Given the description of an element on the screen output the (x, y) to click on. 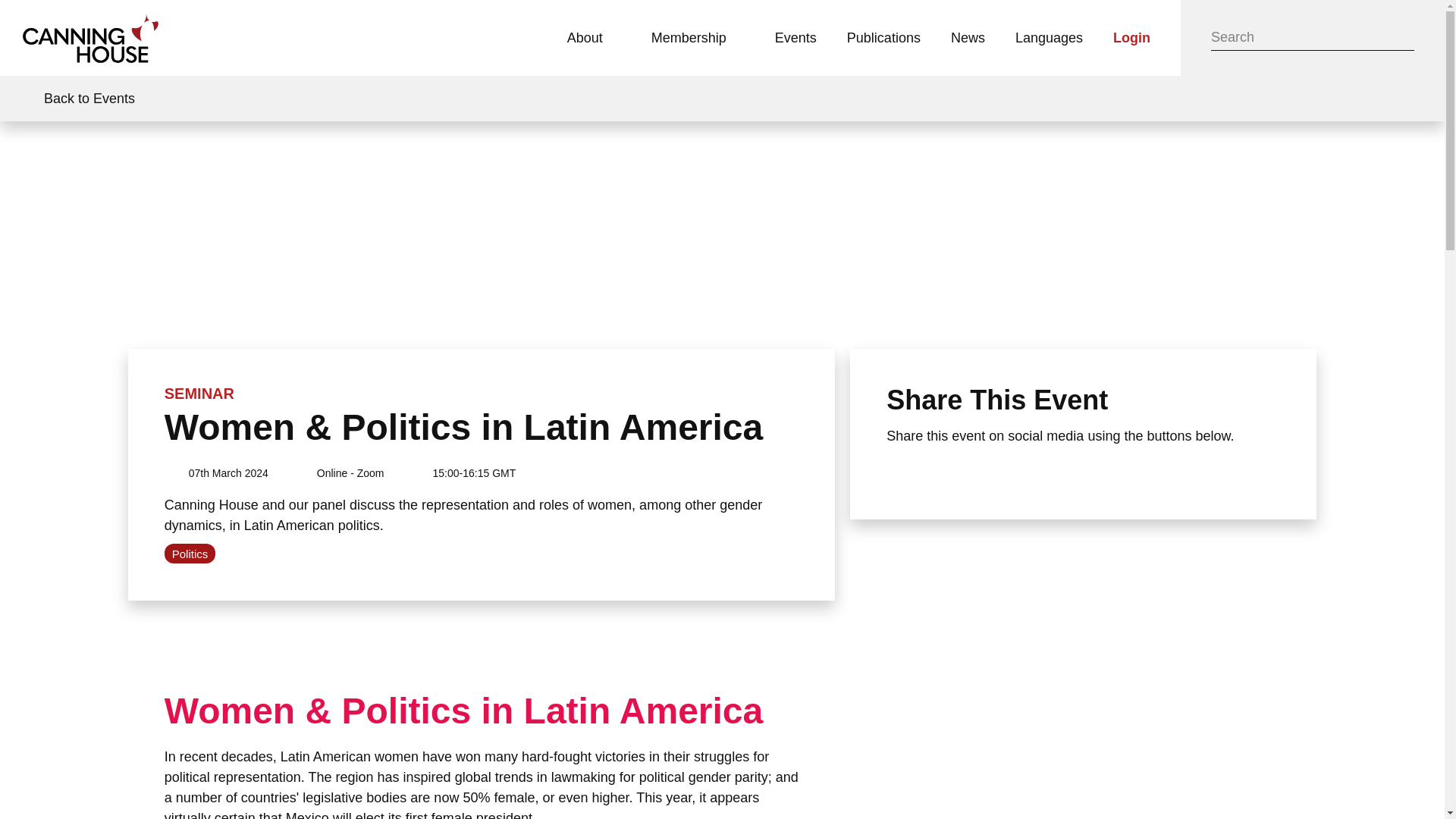
Back to Events (75, 98)
Languages (1048, 38)
Canning House (90, 38)
Login (1131, 38)
Log in (1131, 38)
Events (795, 38)
Events (795, 38)
Publications (883, 38)
Politics (189, 553)
Publications (883, 38)
Back to Events (75, 98)
About (593, 38)
Membership (698, 38)
Politics (189, 553)
Languages (1048, 38)
